Given the description of an element on the screen output the (x, y) to click on. 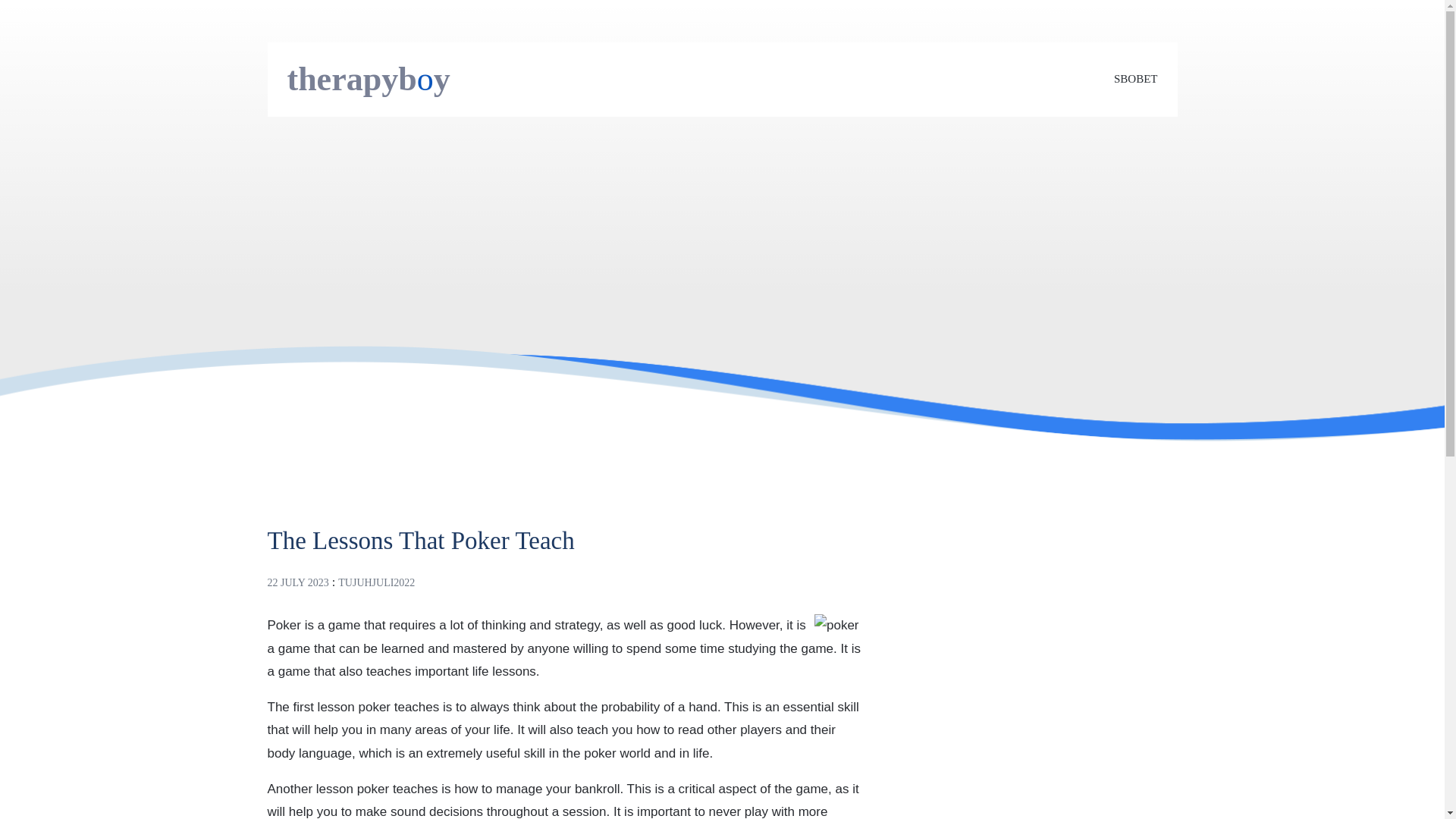
SBOBET (1135, 78)
therapyboy (367, 78)
22 JULY 2023 (297, 582)
TUJUHJULI2022 (375, 582)
